Given the description of an element on the screen output the (x, y) to click on. 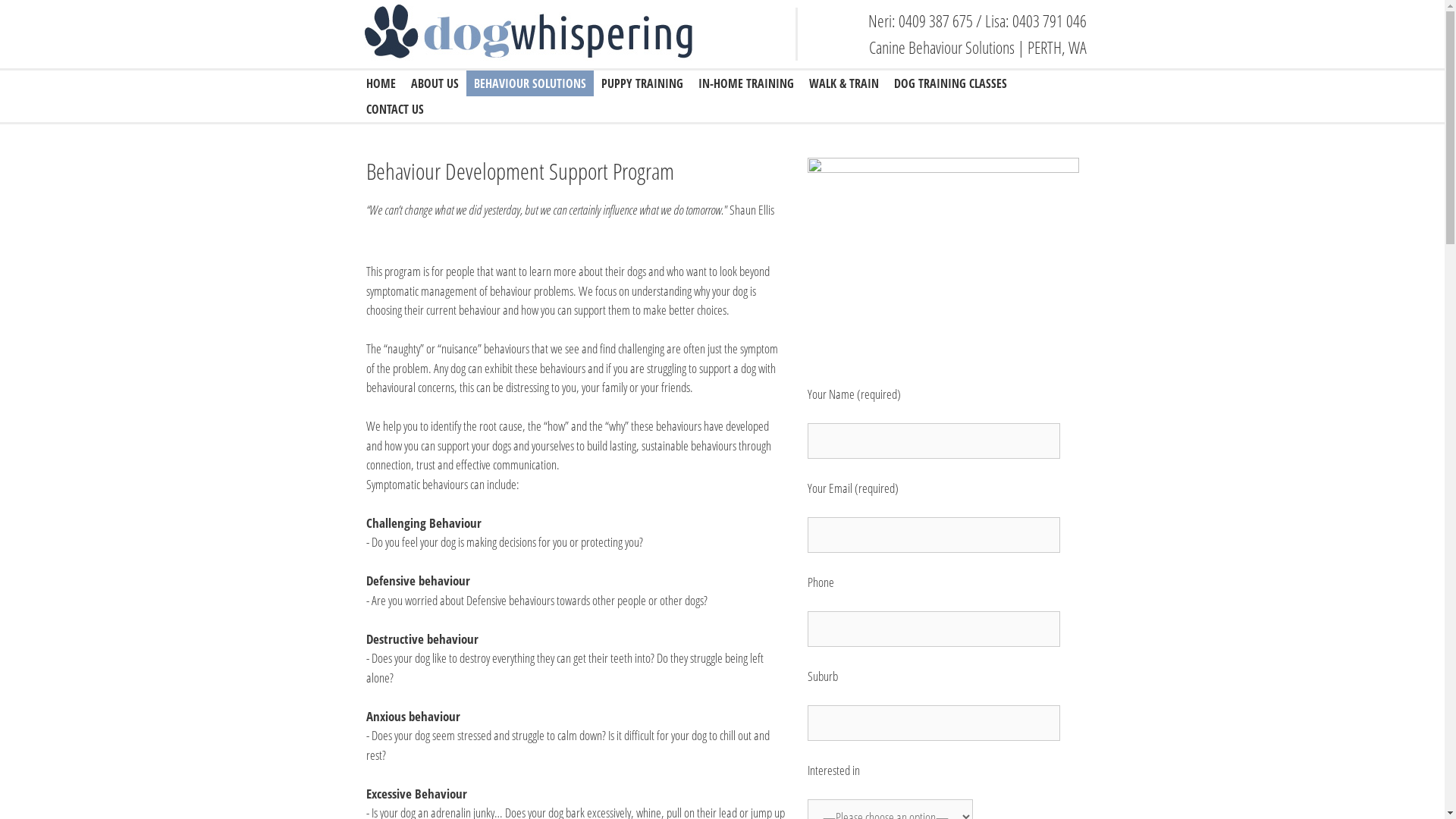
WALK & TRAIN Element type: text (842, 83)
0409 387 675 Element type: text (934, 20)
HOME Element type: text (379, 83)
IN-HOME TRAINING Element type: text (745, 83)
CONTACT US Element type: text (393, 109)
BEHAVIOUR SOLUTIONS Element type: text (529, 83)
ABOUT US Element type: text (434, 83)
PUPPY TRAINING Element type: text (641, 83)
0403 791 046 Element type: text (1048, 20)
DOG TRAINING CLASSES Element type: text (949, 83)
